Given the description of an element on the screen output the (x, y) to click on. 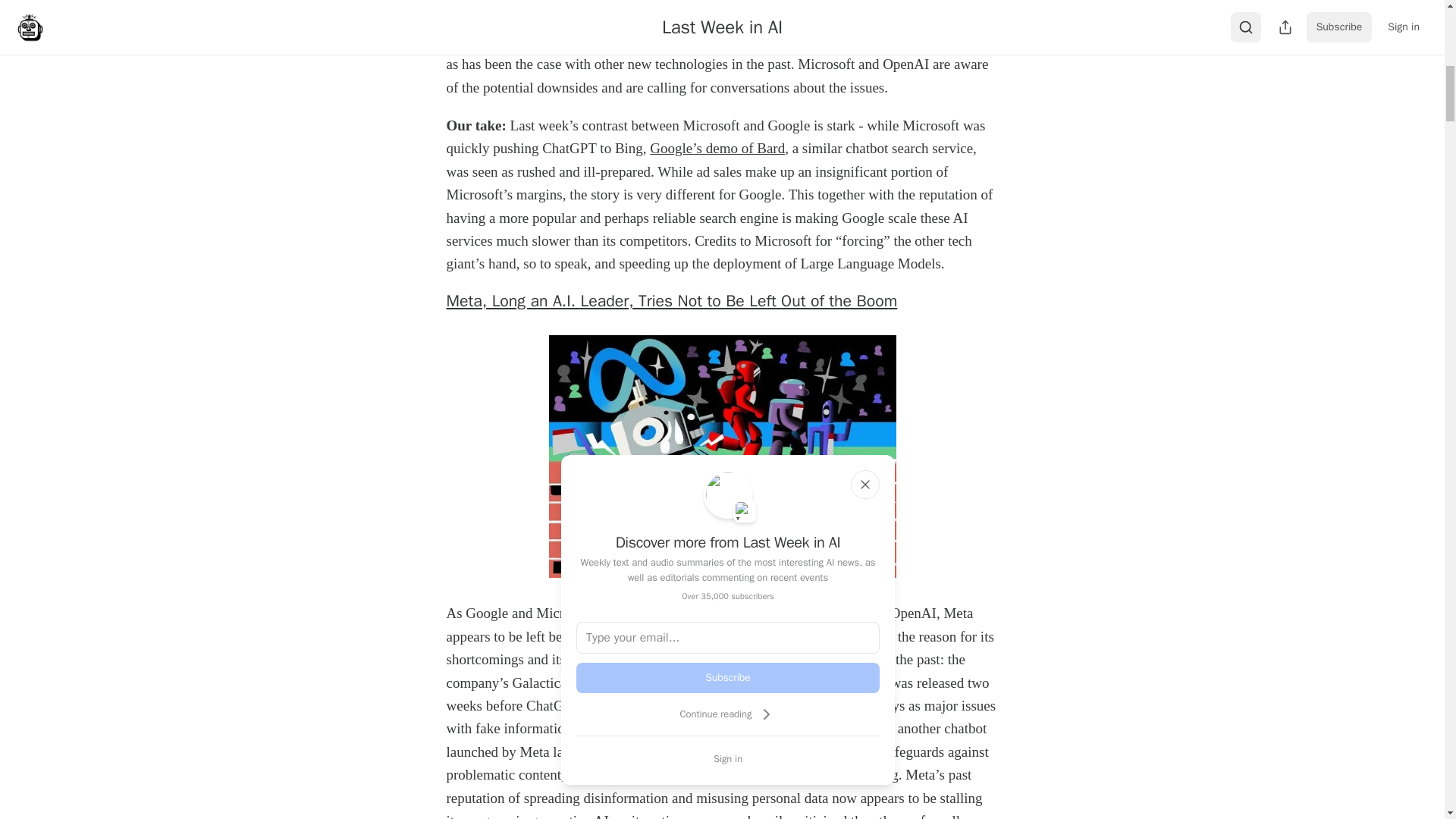
Subscribe (727, 677)
Sign in (727, 758)
